Given the description of an element on the screen output the (x, y) to click on. 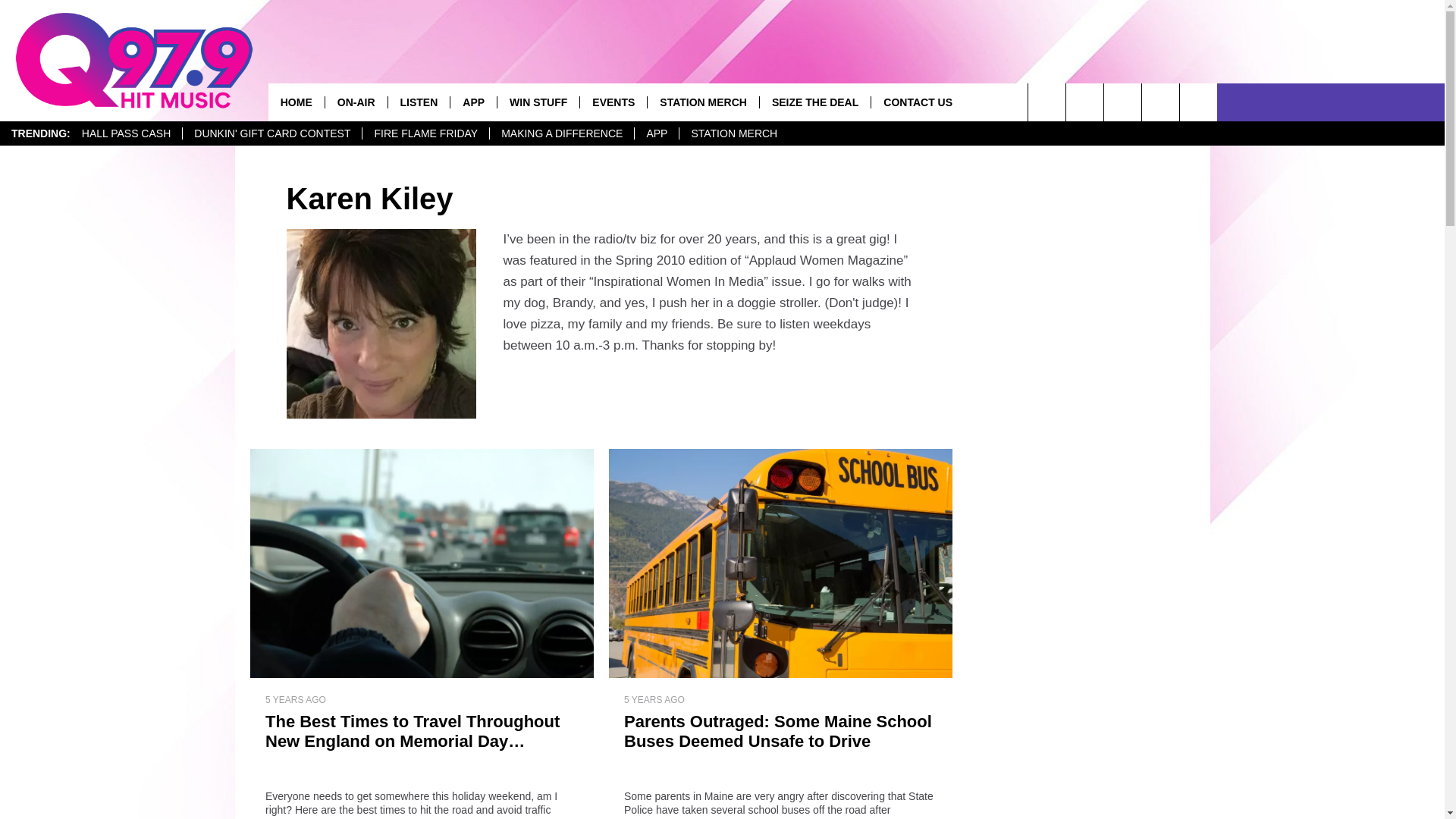
MAKING A DIFFERENCE (561, 133)
DUNKIN' GIFT CARD CONTEST (271, 133)
LISTEN (418, 102)
ON-AIR (355, 102)
EVENTS (612, 102)
HOME (295, 102)
SEIZE THE DEAL (814, 102)
FIRE FLAME FRIDAY (425, 133)
HALL PASS CASH (126, 133)
APP (655, 133)
